Given the description of an element on the screen output the (x, y) to click on. 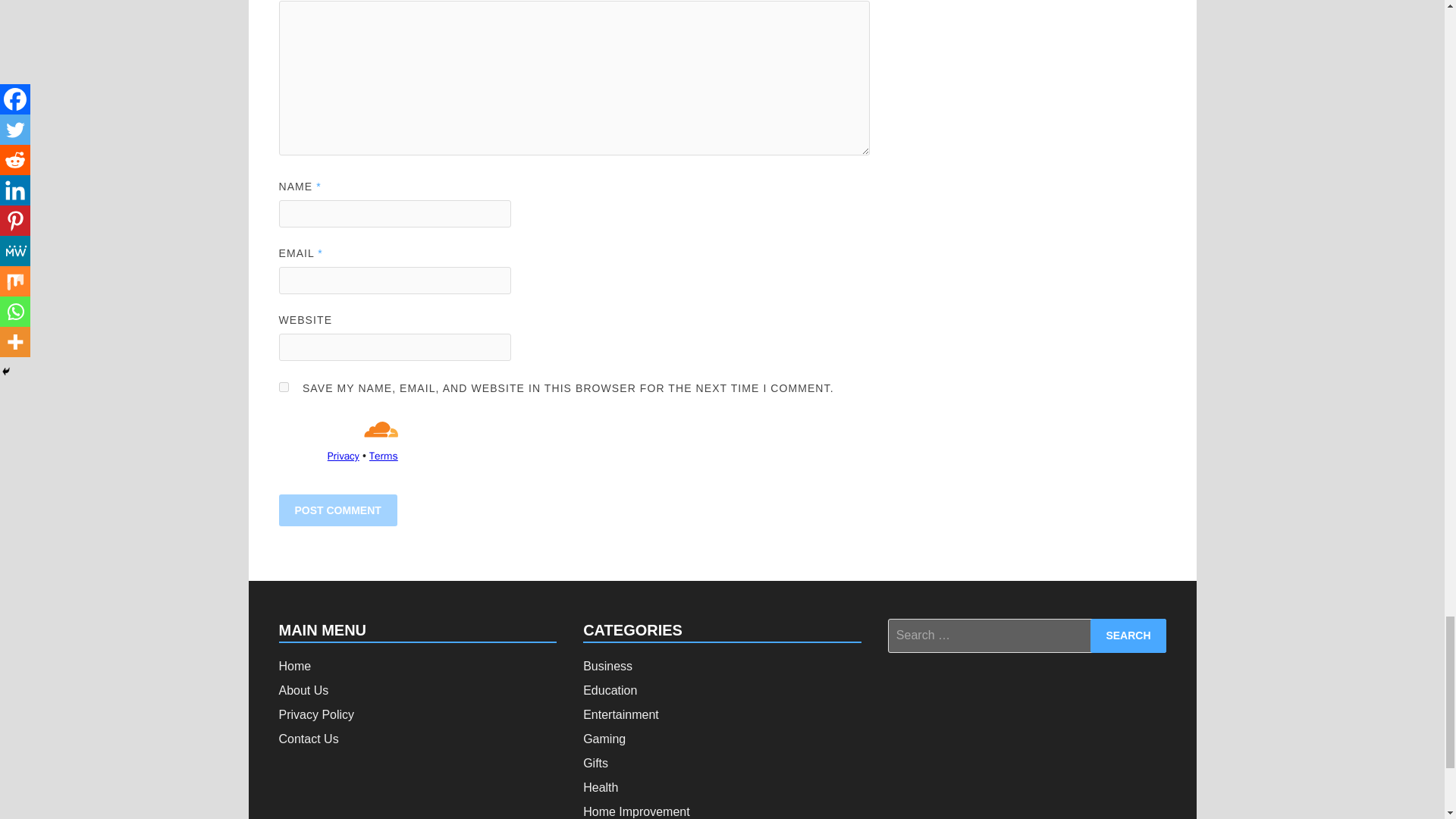
Search (1128, 635)
yes (283, 387)
Search (1128, 635)
Post Comment (338, 510)
